Given the description of an element on the screen output the (x, y) to click on. 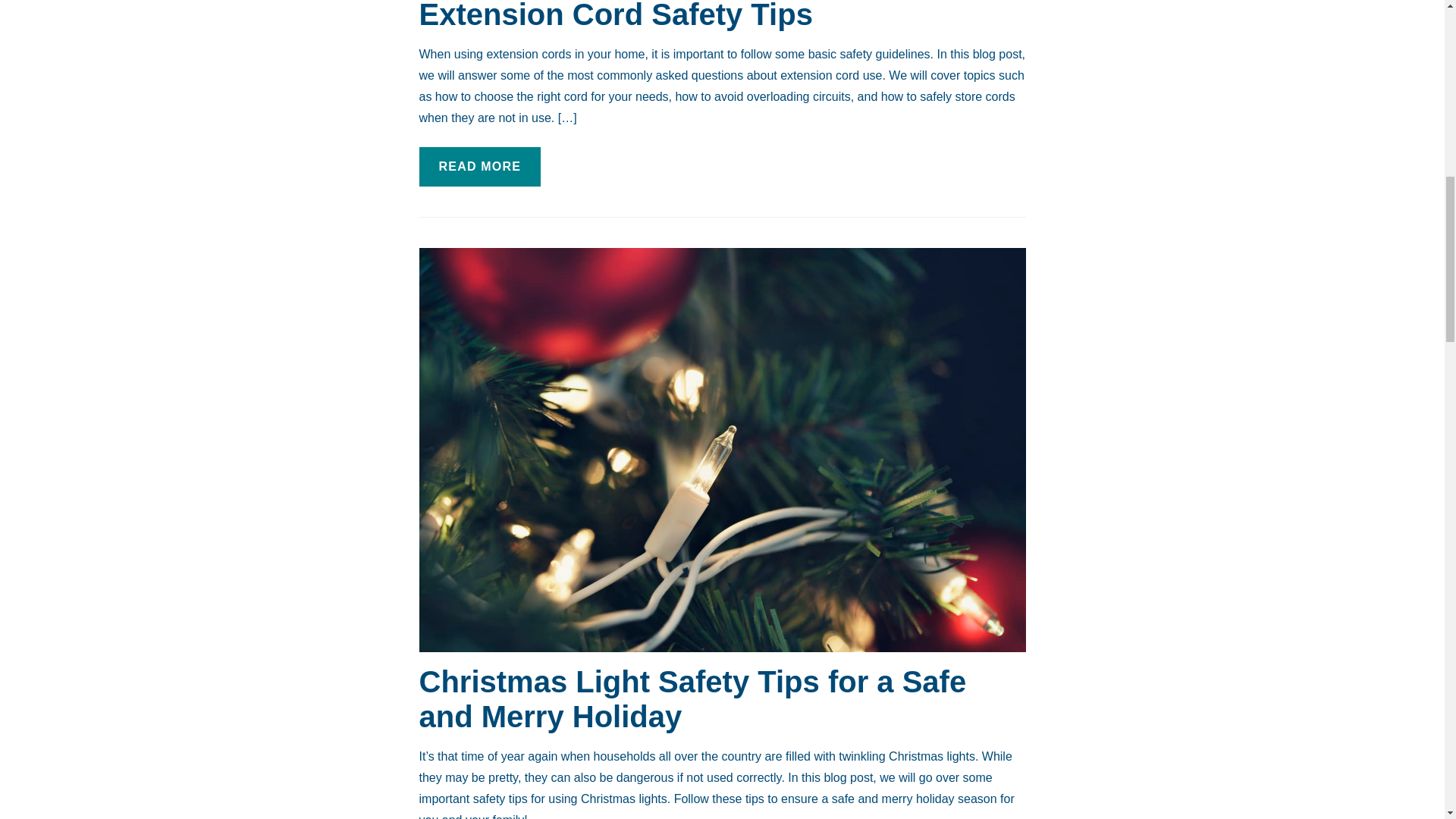
Extension Cord Safety Tips (615, 15)
READ MORE (479, 166)
